Given the description of an element on the screen output the (x, y) to click on. 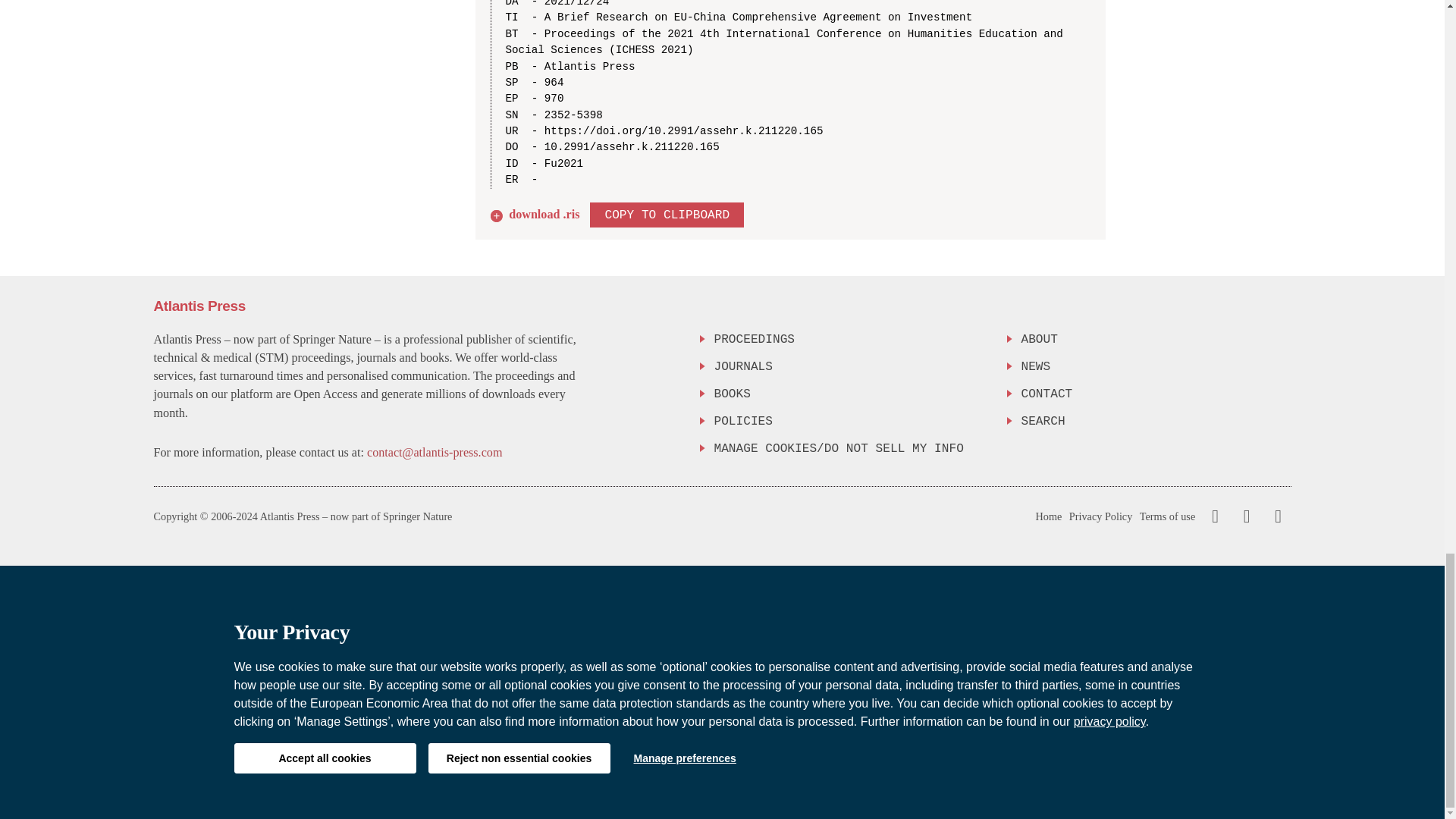
Twitter (1243, 516)
LinkedIn (1275, 516)
Facebook (1215, 516)
